Given the description of an element on the screen output the (x, y) to click on. 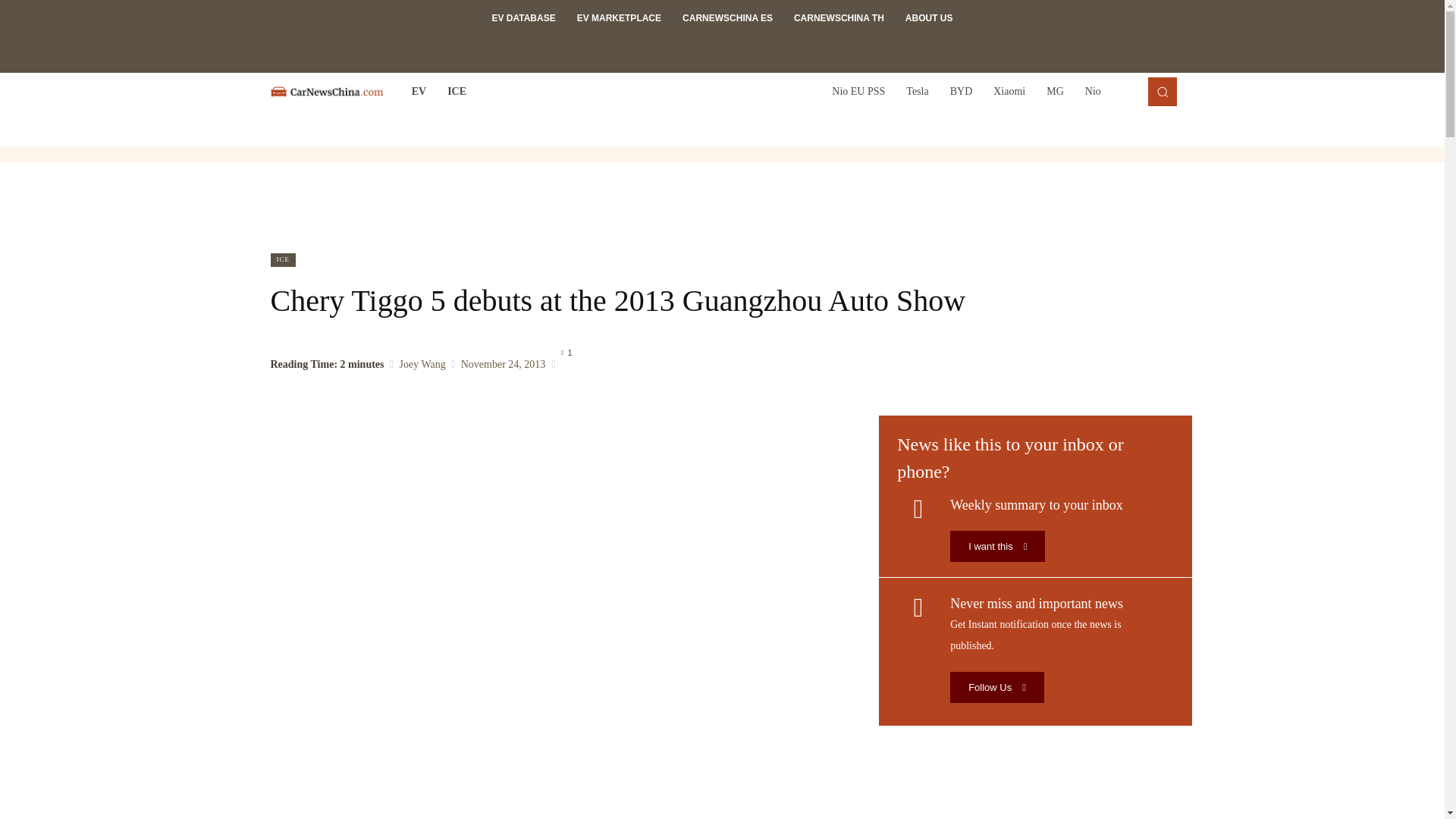
Xiaomi (1008, 91)
EV MARKETPLACE (618, 18)
CARNEWSCHINA ES (727, 18)
Nio EU PSS (858, 91)
Tesla (917, 91)
EV DATABASE (523, 18)
Nio (1093, 91)
EV (418, 91)
MG (1054, 91)
CARNEWSCHINA TH (839, 18)
